Given the description of an element on the screen output the (x, y) to click on. 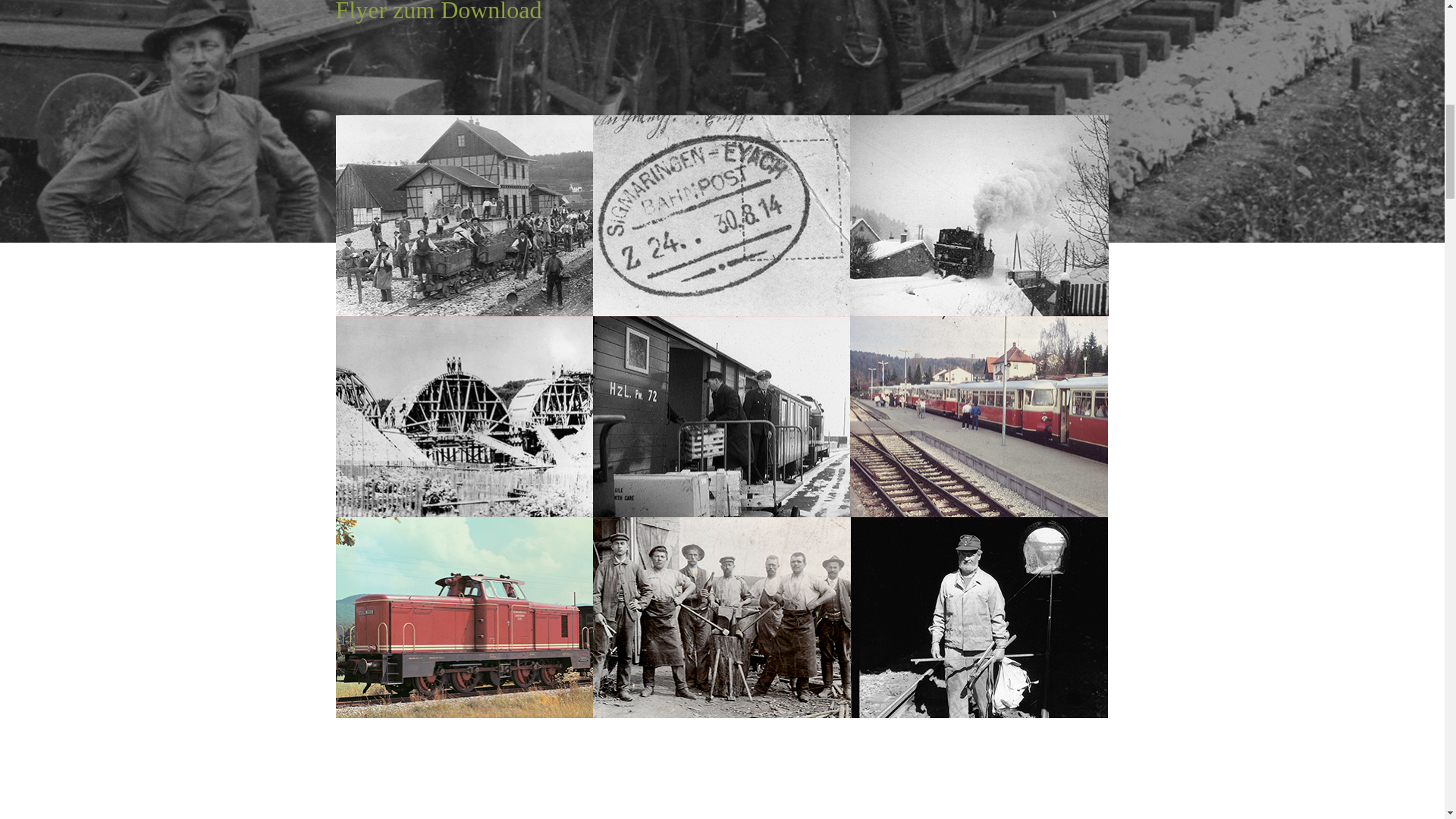
Flyer zum Download (437, 11)
